Given the description of an element on the screen output the (x, y) to click on. 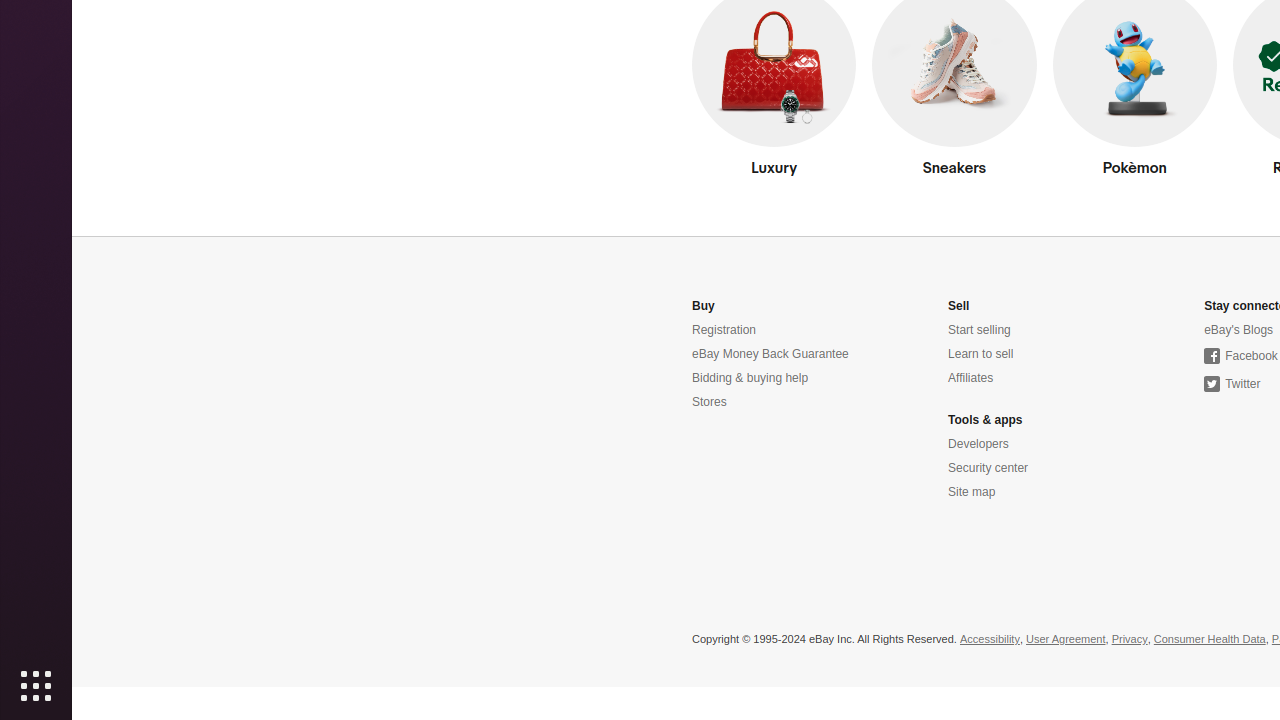
Start selling Element type: link (979, 330)
Stores Element type: link (709, 402)
Privacy Element type: link (1129, 640)
Security center Element type: link (988, 468)
Affiliates Element type: link (971, 378)
